Given the description of an element on the screen output the (x, y) to click on. 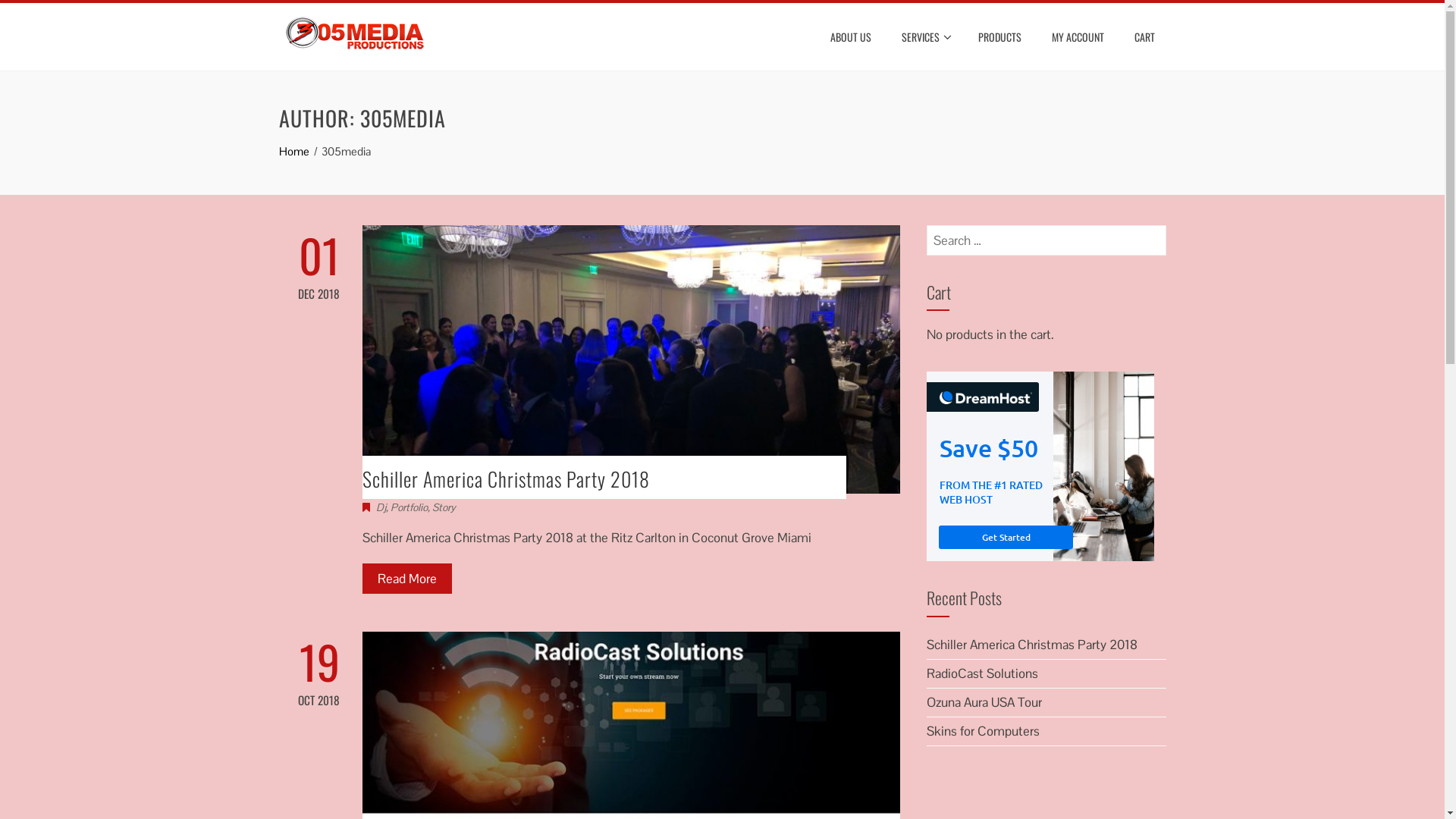
Portfolio Element type: text (407, 507)
Story Element type: text (443, 507)
Search Element type: text (33, 15)
MY ACCOUNT Element type: text (1077, 36)
Home Element type: text (294, 151)
Ozuna Aura USA Tour Element type: text (983, 701)
Skins for Computers Element type: text (982, 730)
CART Element type: text (1143, 36)
ABOUT US Element type: text (850, 36)
Dj Element type: text (380, 507)
PRODUCTS Element type: text (999, 36)
Schiller America Christmas Party 2018 Element type: text (1031, 644)
SERVICES Element type: text (924, 36)
Schiller America Christmas Party 2018 Element type: text (505, 478)
Read More Element type: text (406, 578)
RadioCast Solutions Element type: text (982, 673)
